Given the description of an element on the screen output the (x, y) to click on. 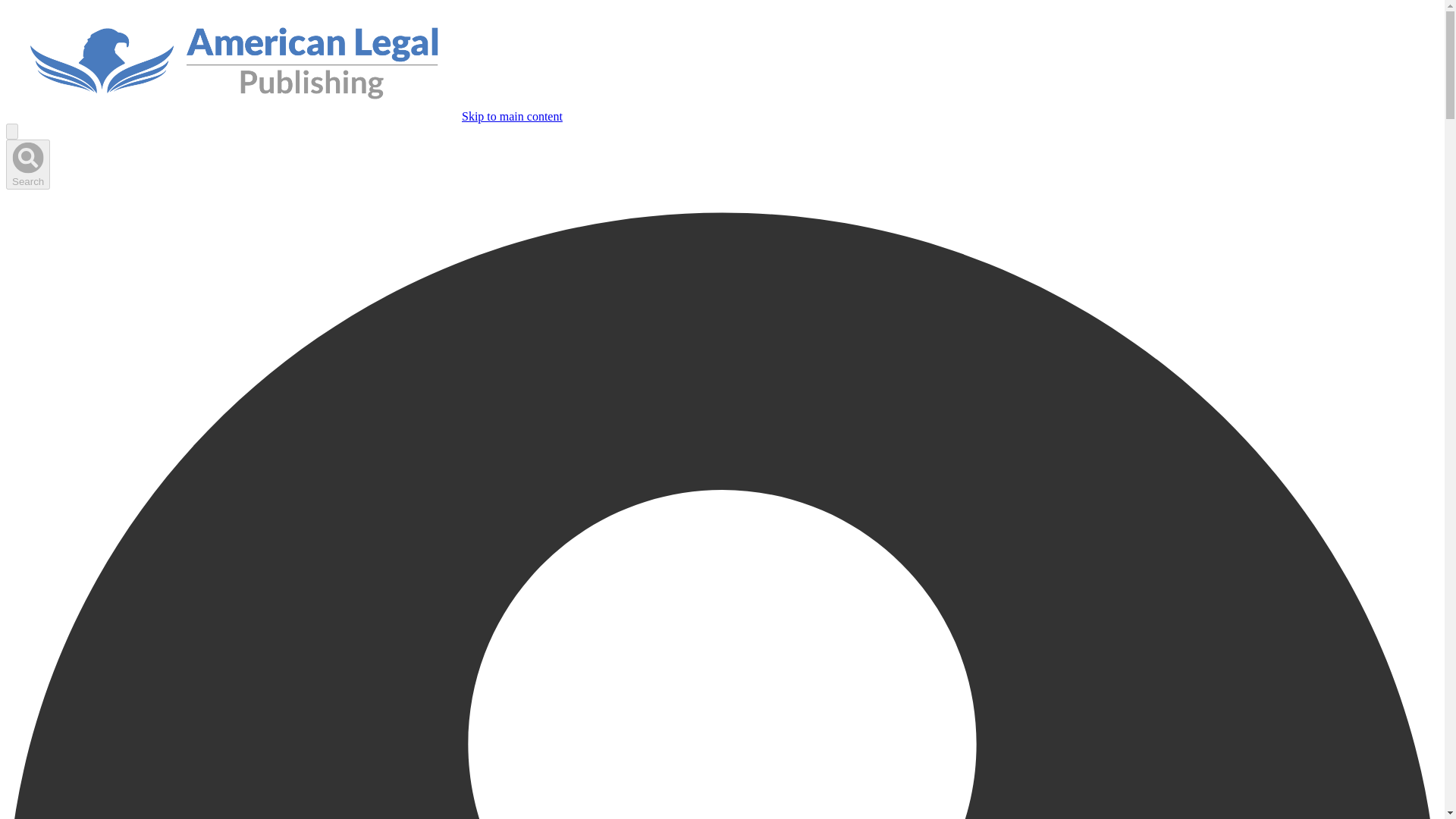
Skip to main content (511, 115)
